Given the description of an element on the screen output the (x, y) to click on. 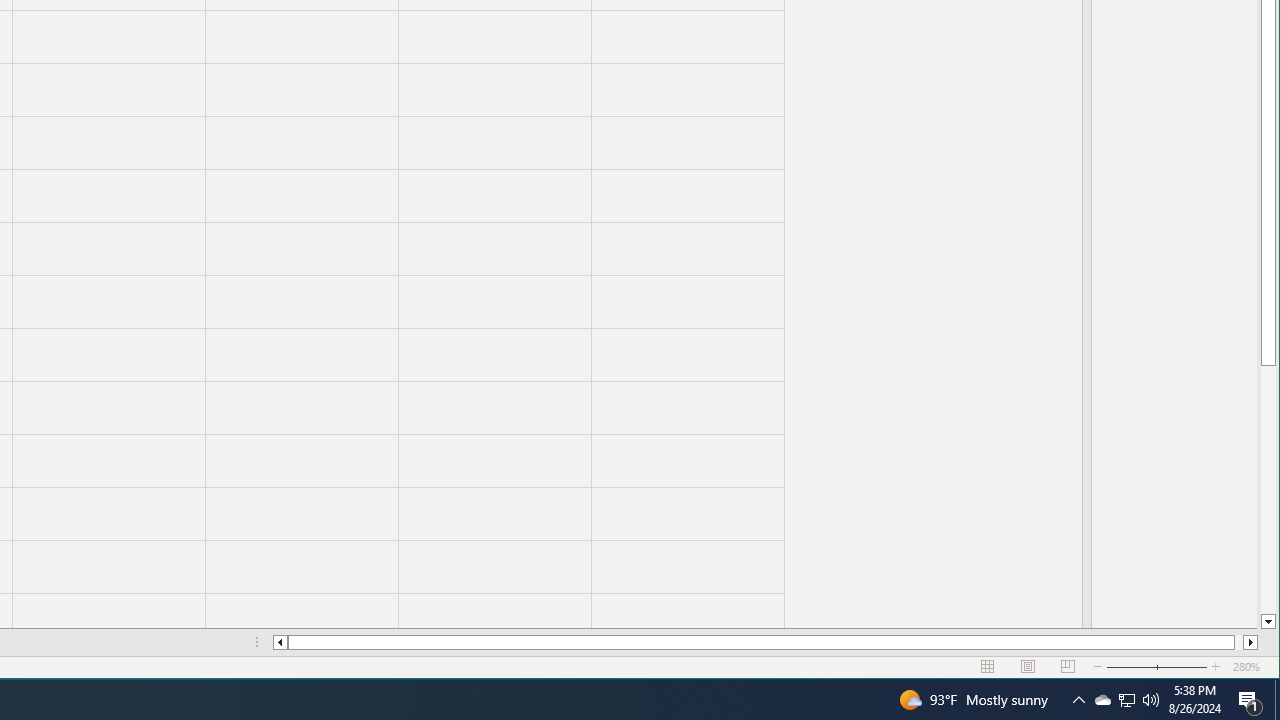
Q2790: 100% (1151, 699)
User Promoted Notification Area (1126, 699)
Notification Chevron (1126, 699)
Action Center, 1 new notification (1078, 699)
Page down (1250, 699)
